Given the description of an element on the screen output the (x, y) to click on. 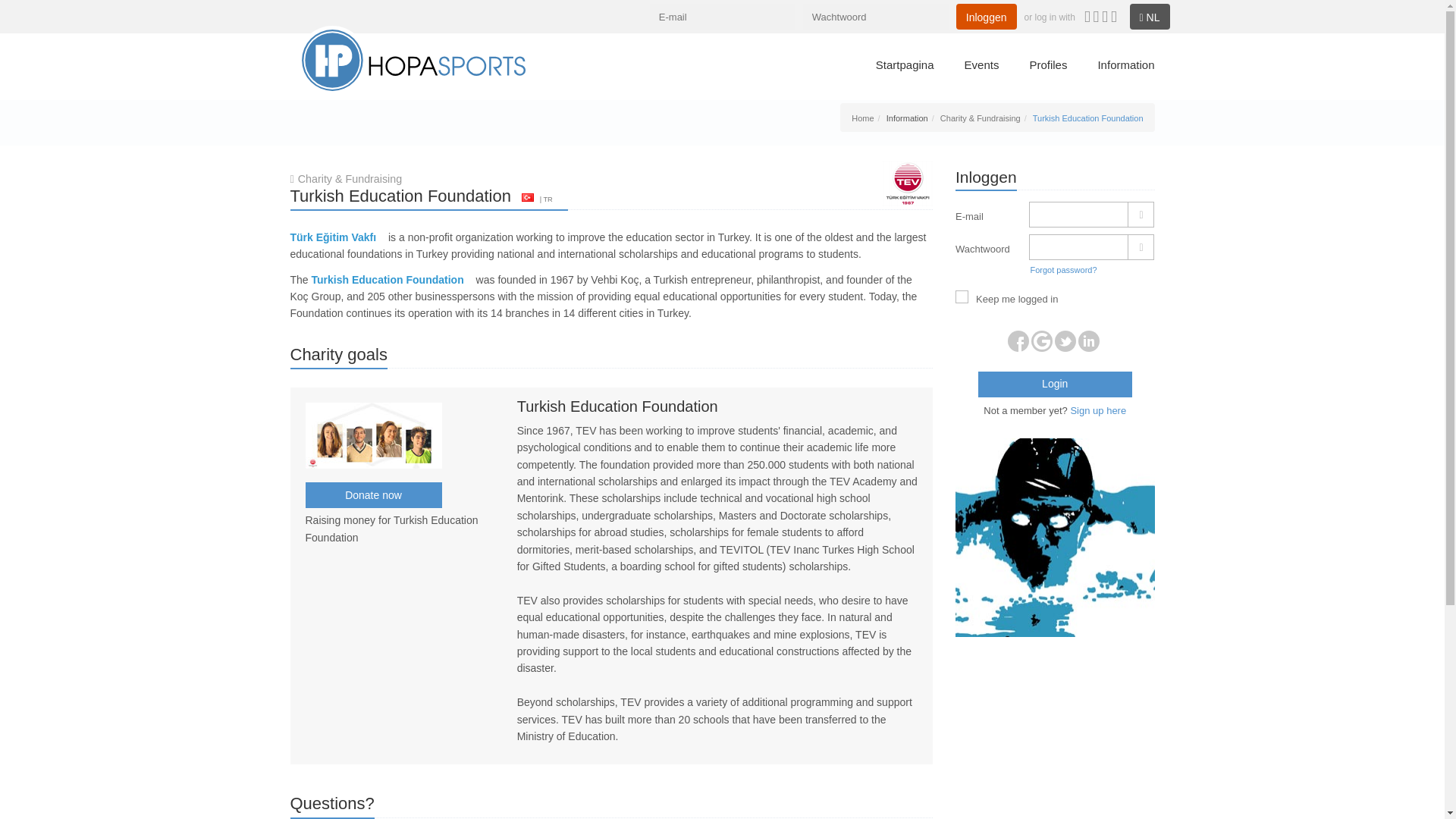
Inloggen (986, 16)
NL (1149, 16)
Turkey (527, 197)
Startpagina (904, 67)
Events (981, 67)
